Given the description of an element on the screen output the (x, y) to click on. 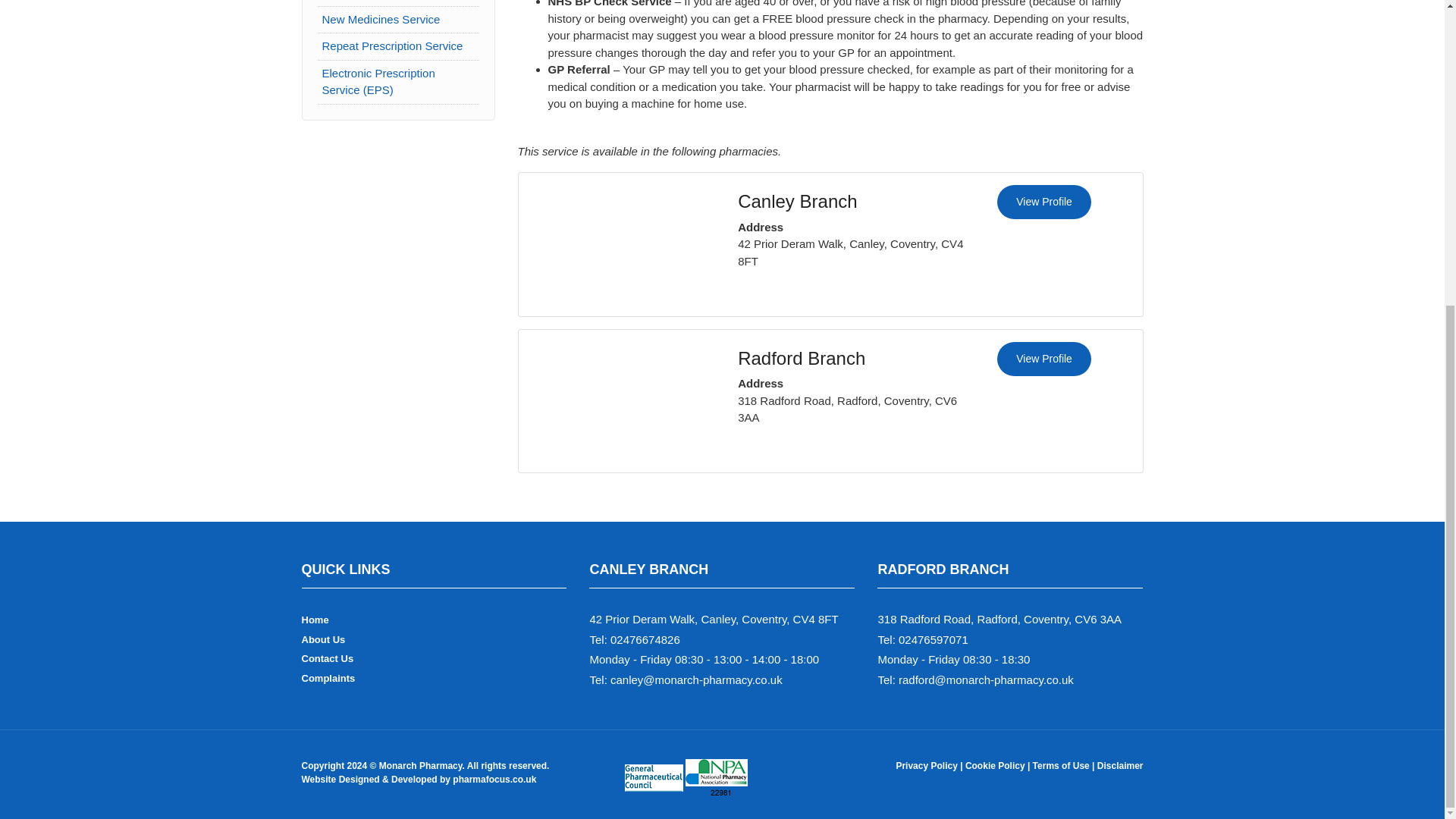
Tel: 02476674826 (634, 639)
Home (315, 619)
Repeat Prescription Service (392, 45)
New Medicines Service (380, 19)
Complaints (328, 677)
About Us (323, 639)
Contact Us (327, 658)
Tel: 02476597071 (922, 639)
Cookie Policy (996, 765)
View Profile (1043, 358)
